Given the description of an element on the screen output the (x, y) to click on. 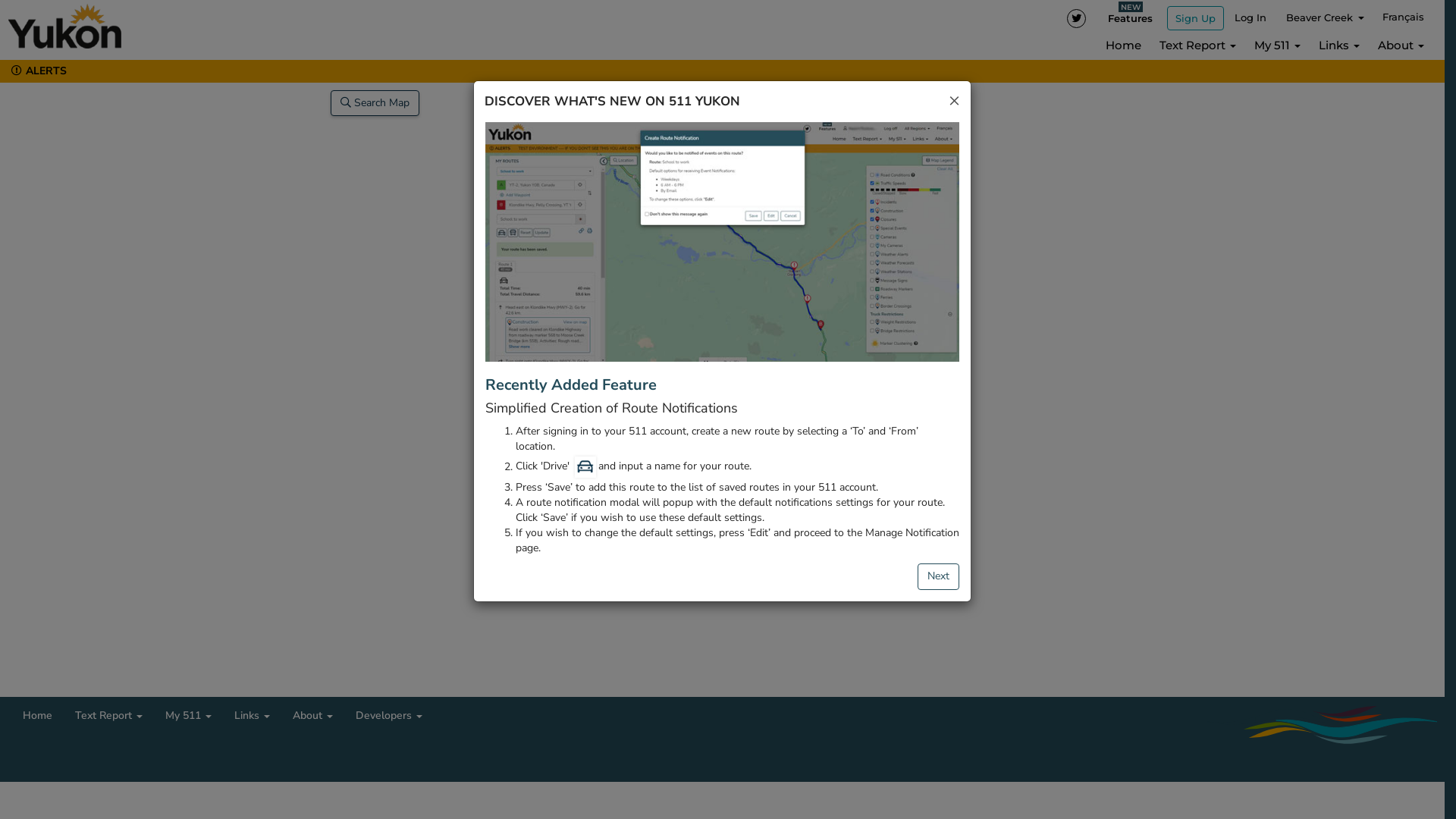
Text Report Element type: text (108, 713)
About Element type: text (1400, 46)
Log In Element type: text (1250, 18)
Beaver Creek Element type: text (1324, 18)
Developers Element type: text (388, 713)
Twitter Element type: hover (1075, 18)
Next Element type: text (938, 576)
Links Element type: text (251, 713)
My 511 Element type: text (187, 713)
Links Element type: text (1339, 46)
ALERTS Element type: text (37, 70)
My 511 Element type: text (1277, 46)
Home Element type: text (1123, 46)
Sign Up
for an account. Element type: text (1195, 18)
About Element type: text (312, 713)
Text Report Element type: text (1197, 46)
Home Element type: text (37, 711)
Search Map Element type: text (374, 103)
